Given the description of an element on the screen output the (x, y) to click on. 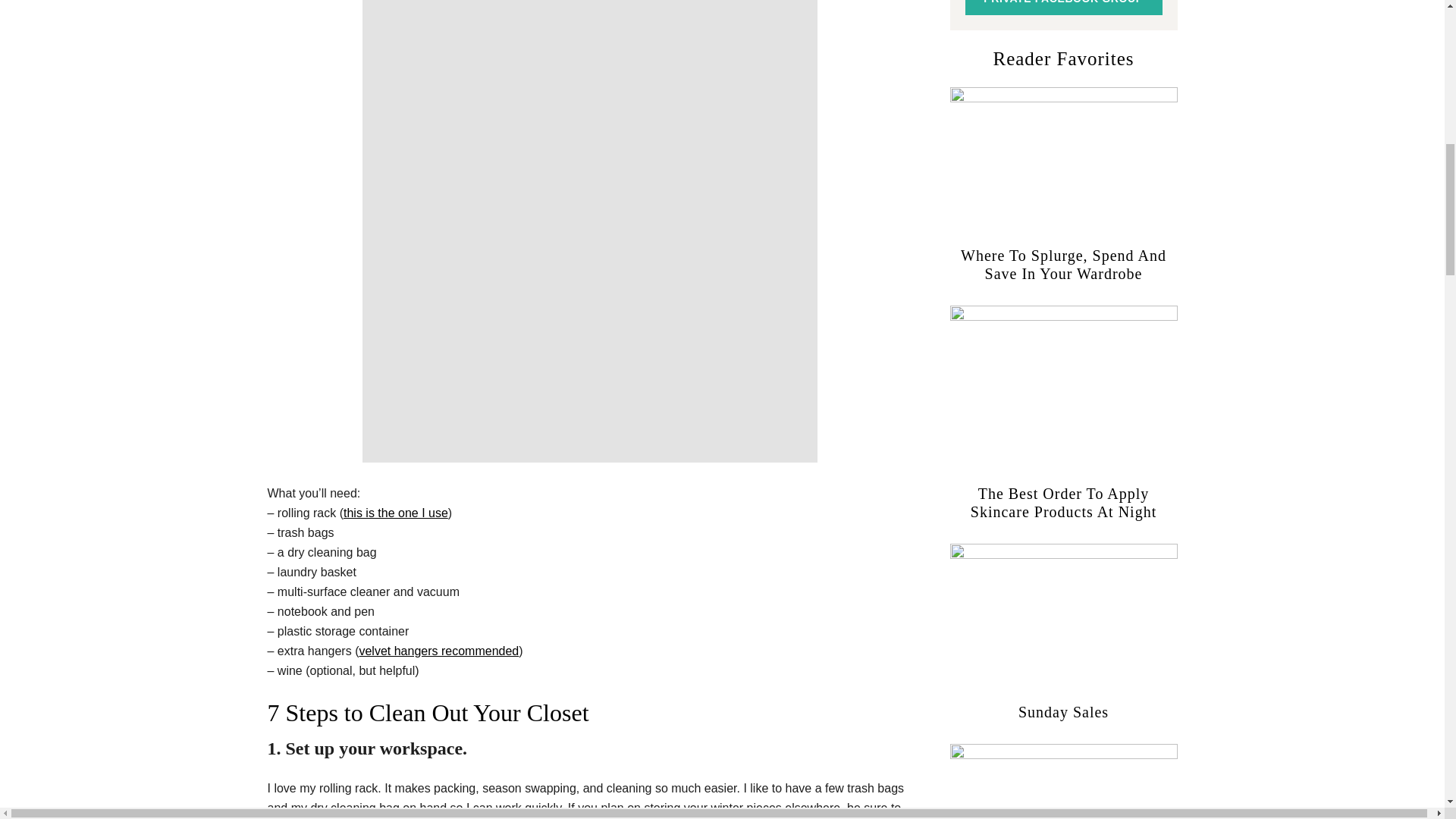
velvet hangers recommended (438, 650)
this is the one I use (395, 512)
